Given the description of an element on the screen output the (x, y) to click on. 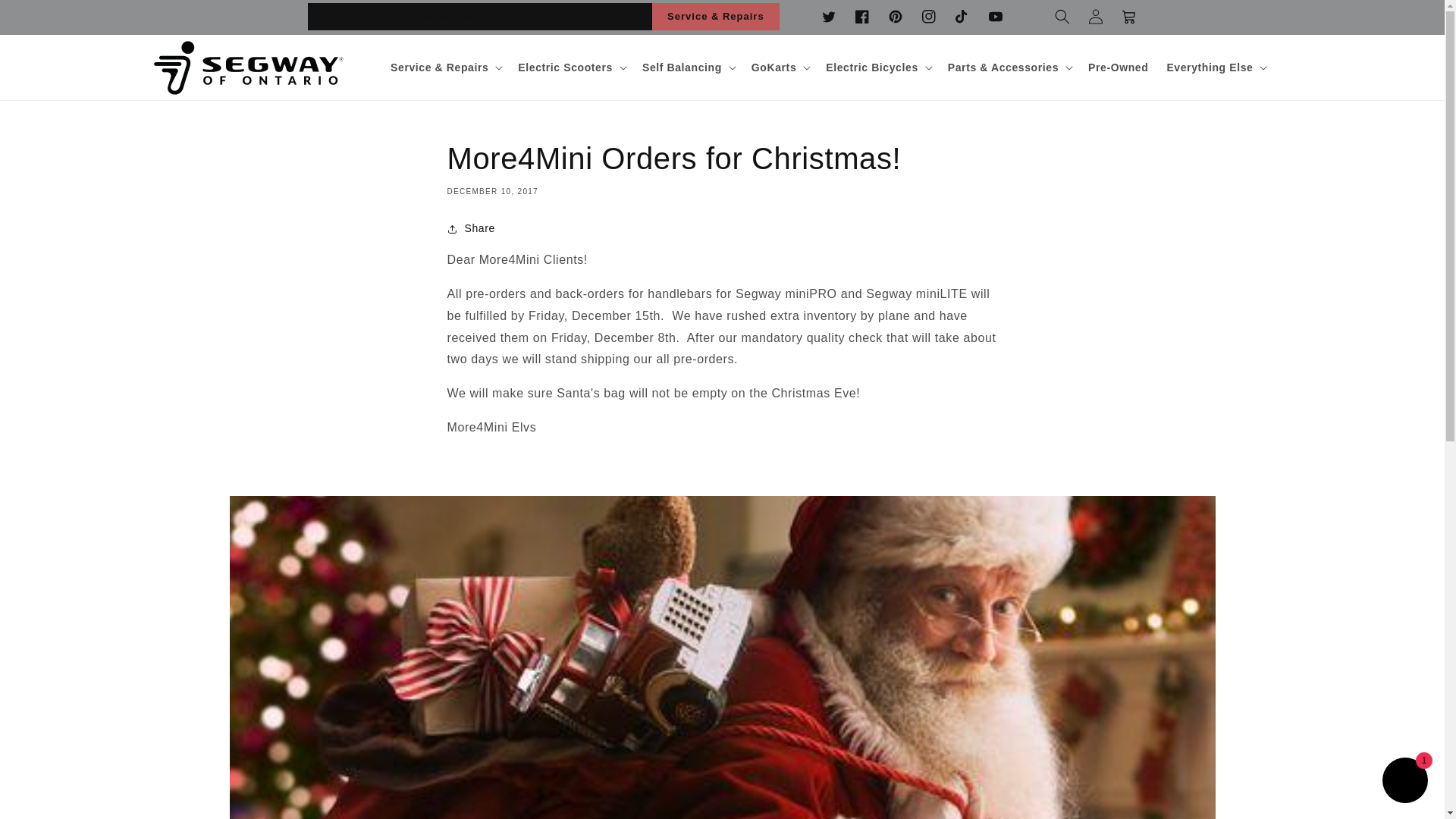
416.642.0096 (357, 17)
Facebook (862, 16)
Twitter (828, 16)
Instagram (928, 16)
Shopify online store chat (1404, 781)
YouTube (994, 16)
Cart (1128, 16)
TikTok (961, 16)
Skip to content (45, 17)
Sales (622, 17)
Log in (1095, 16)
Pinterest (895, 16)
